Given the description of an element on the screen output the (x, y) to click on. 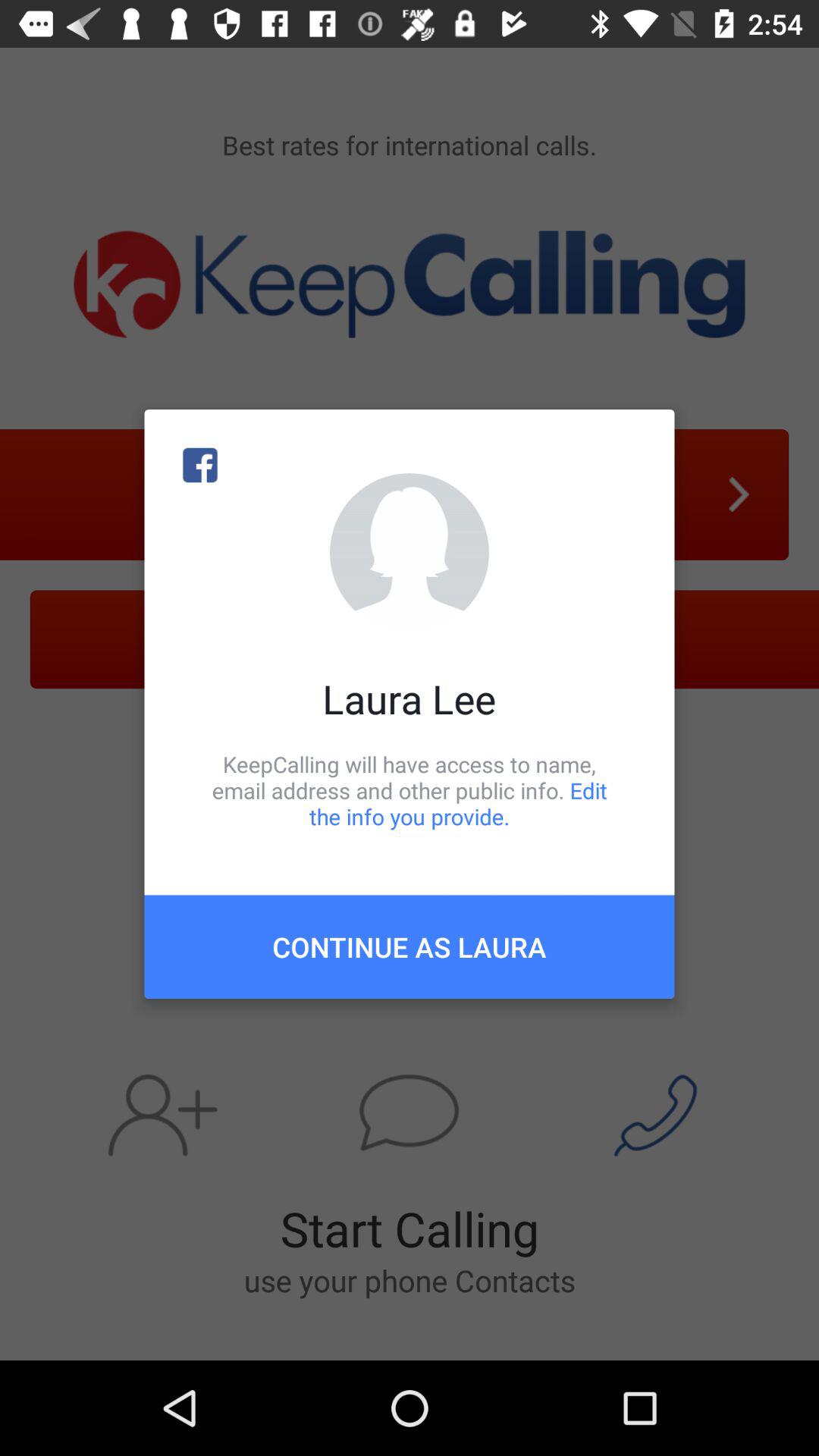
open the continue as laura icon (409, 946)
